Given the description of an element on the screen output the (x, y) to click on. 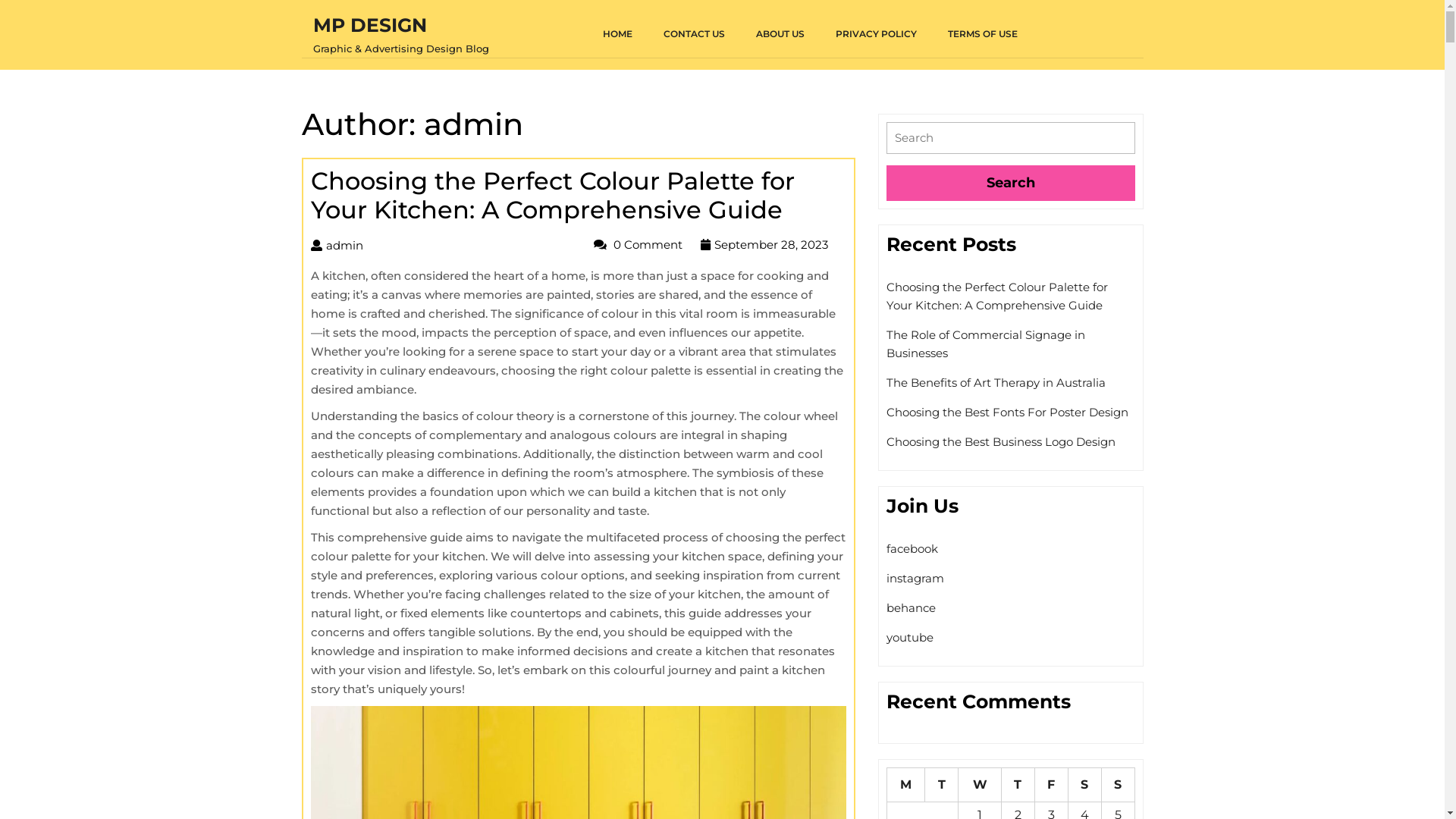
Choosing the Best Business Logo Design Element type: text (999, 441)
HOME Element type: text (621, 34)
September 28, 2023 Element type: text (771, 244)
ABOUT US Element type: text (784, 34)
admin Element type: text (344, 245)
CONTACT US Element type: text (698, 34)
The Role of Commercial Signage in Businesses Element type: text (984, 343)
PRIVACY POLICY Element type: text (880, 34)
facebook Element type: text (911, 548)
behance Element type: text (910, 607)
Search Element type: text (1009, 182)
youtube Element type: text (908, 637)
Choosing the Best Fonts For Poster Design Element type: text (1006, 411)
MP DESIGN Element type: text (369, 24)
TERMS OF USE Element type: text (987, 34)
instagram Element type: text (914, 578)
The Benefits of Art Therapy in Australia Element type: text (994, 382)
